Given the description of an element on the screen output the (x, y) to click on. 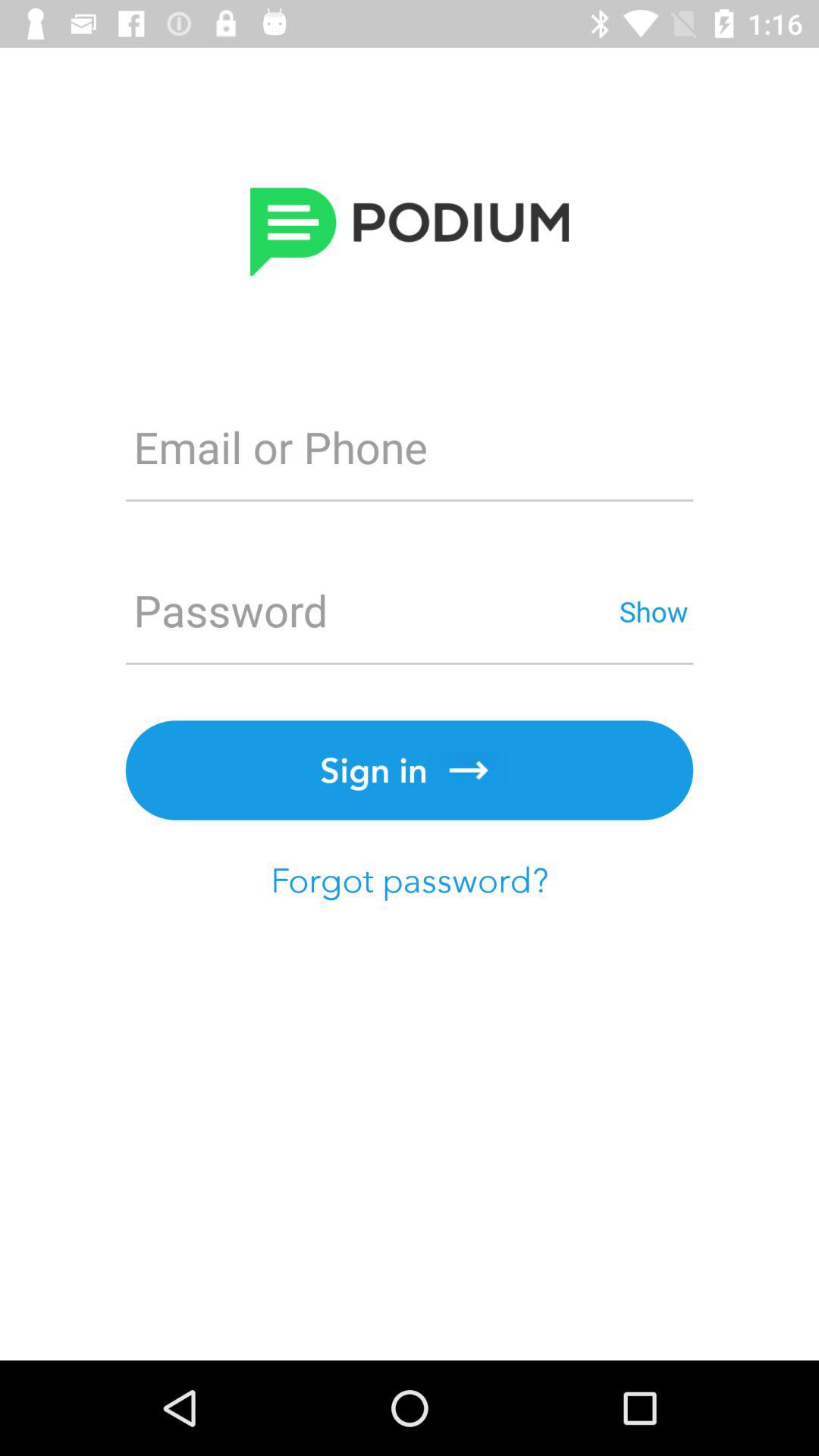
open the icon above sign in item (369, 610)
